Given the description of an element on the screen output the (x, y) to click on. 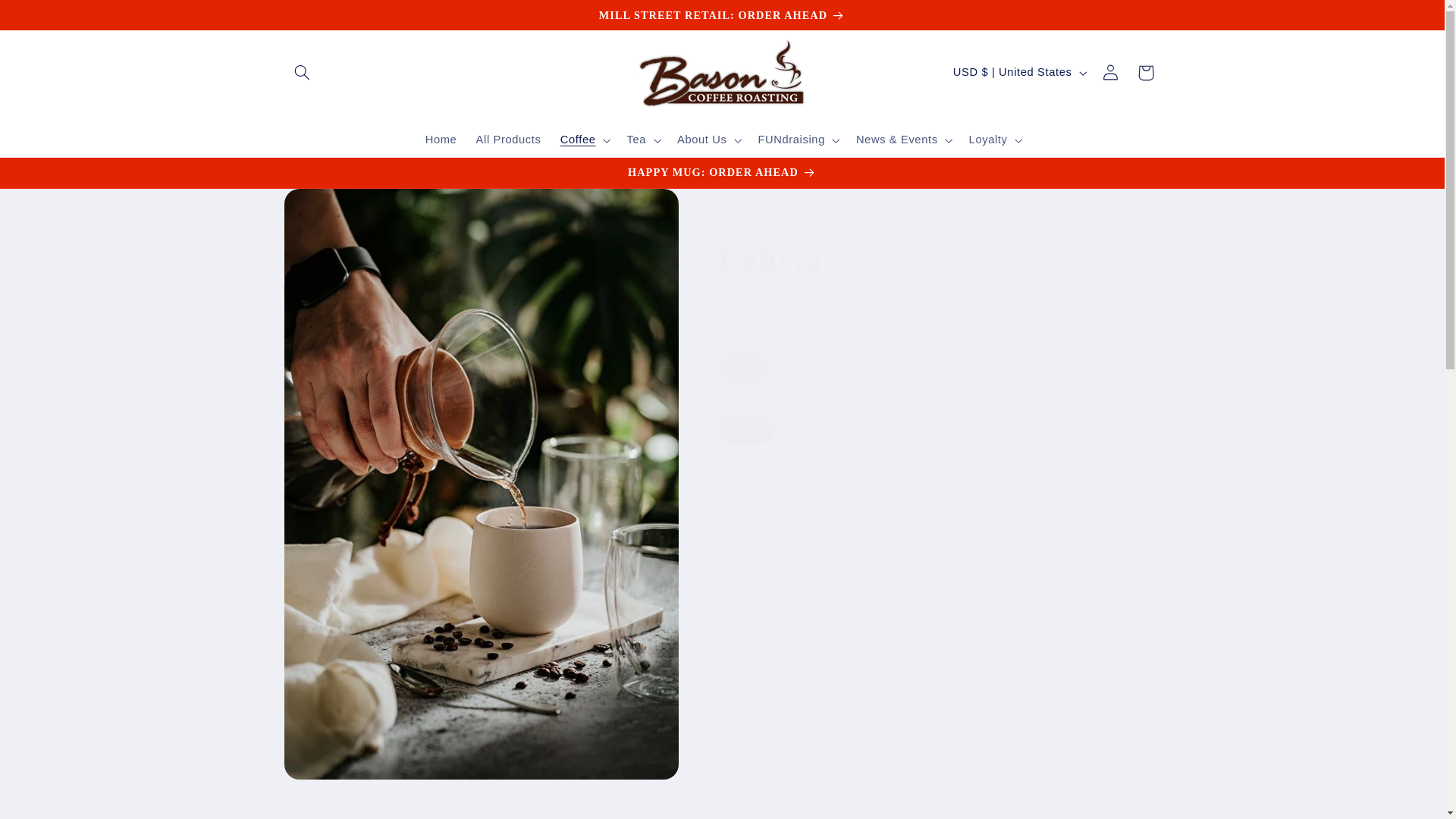
1 (771, 496)
Skip to content (47, 17)
MILL STREET RETAIL: ORDER AHEAD (721, 15)
